Given the description of an element on the screen output the (x, y) to click on. 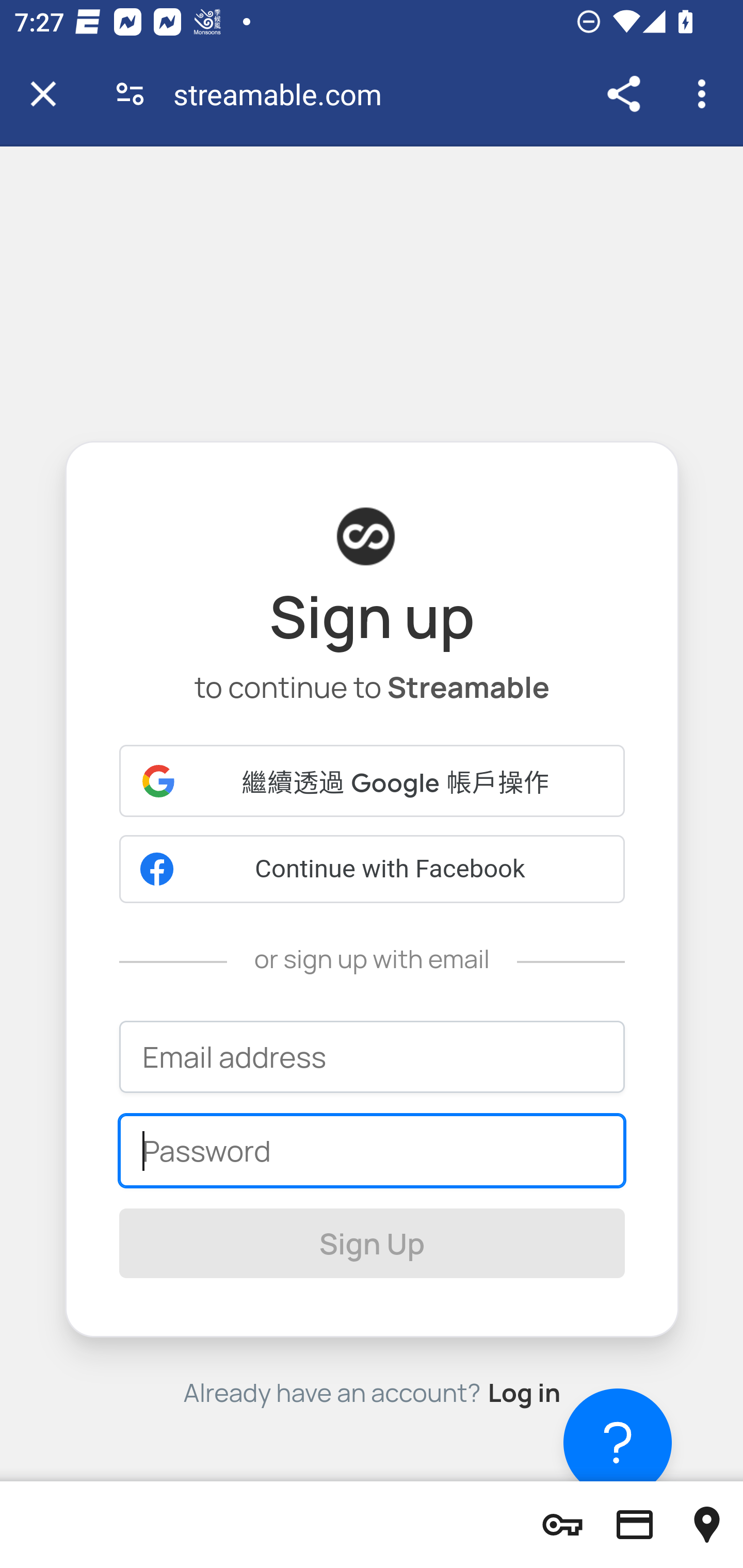
繼續透過 Google 帳戶操作 (372, 779)
Continue with Facebook (372, 869)
Sign Up (372, 1242)
